Given the description of an element on the screen output the (x, y) to click on. 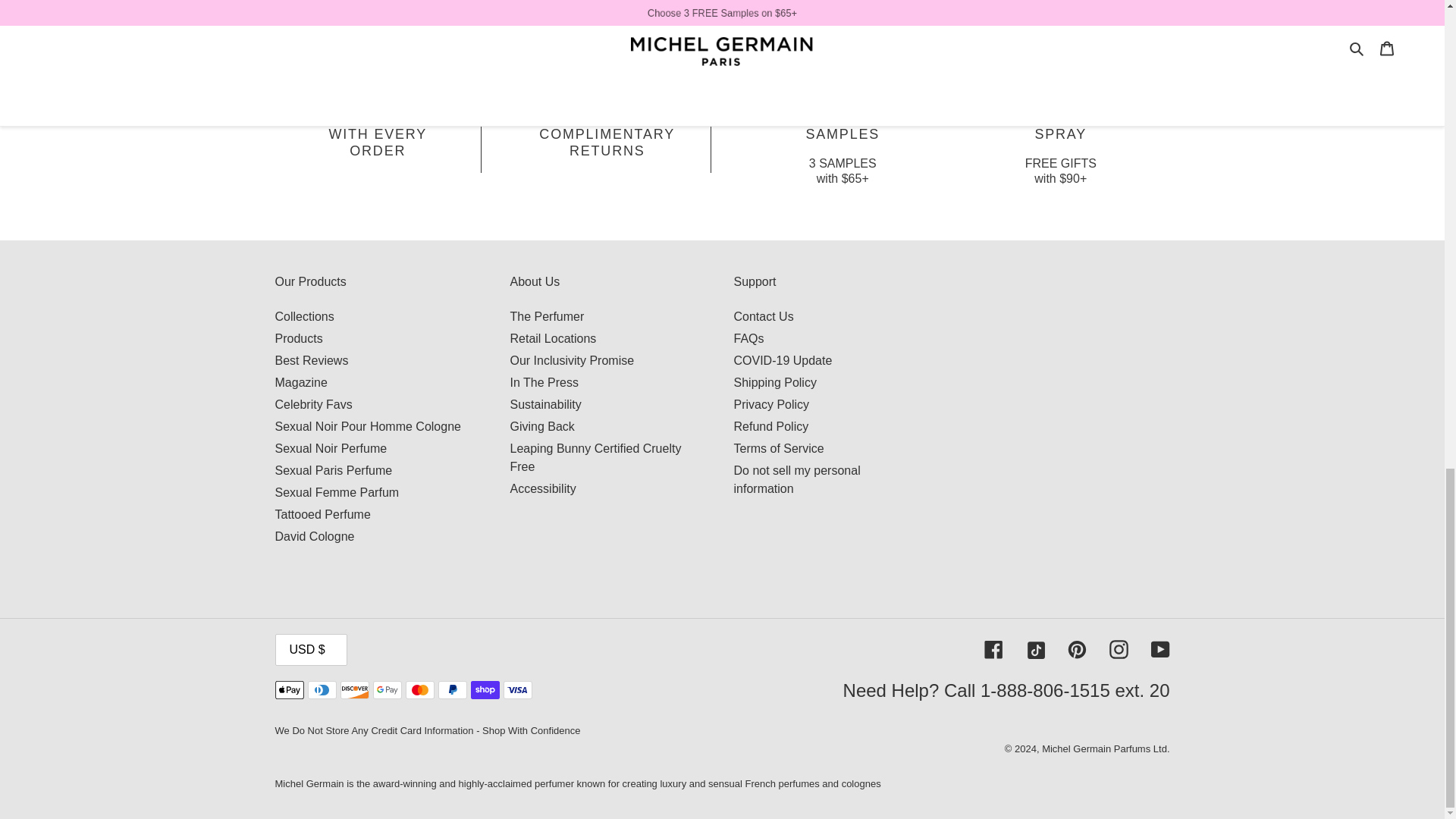
Shop Pay (484, 689)
Discover (353, 689)
Google Pay (386, 689)
PayPal (452, 689)
Mastercard (418, 689)
Apple Pay (288, 689)
Visa (517, 689)
Diners Club (321, 689)
